Given the description of an element on the screen output the (x, y) to click on. 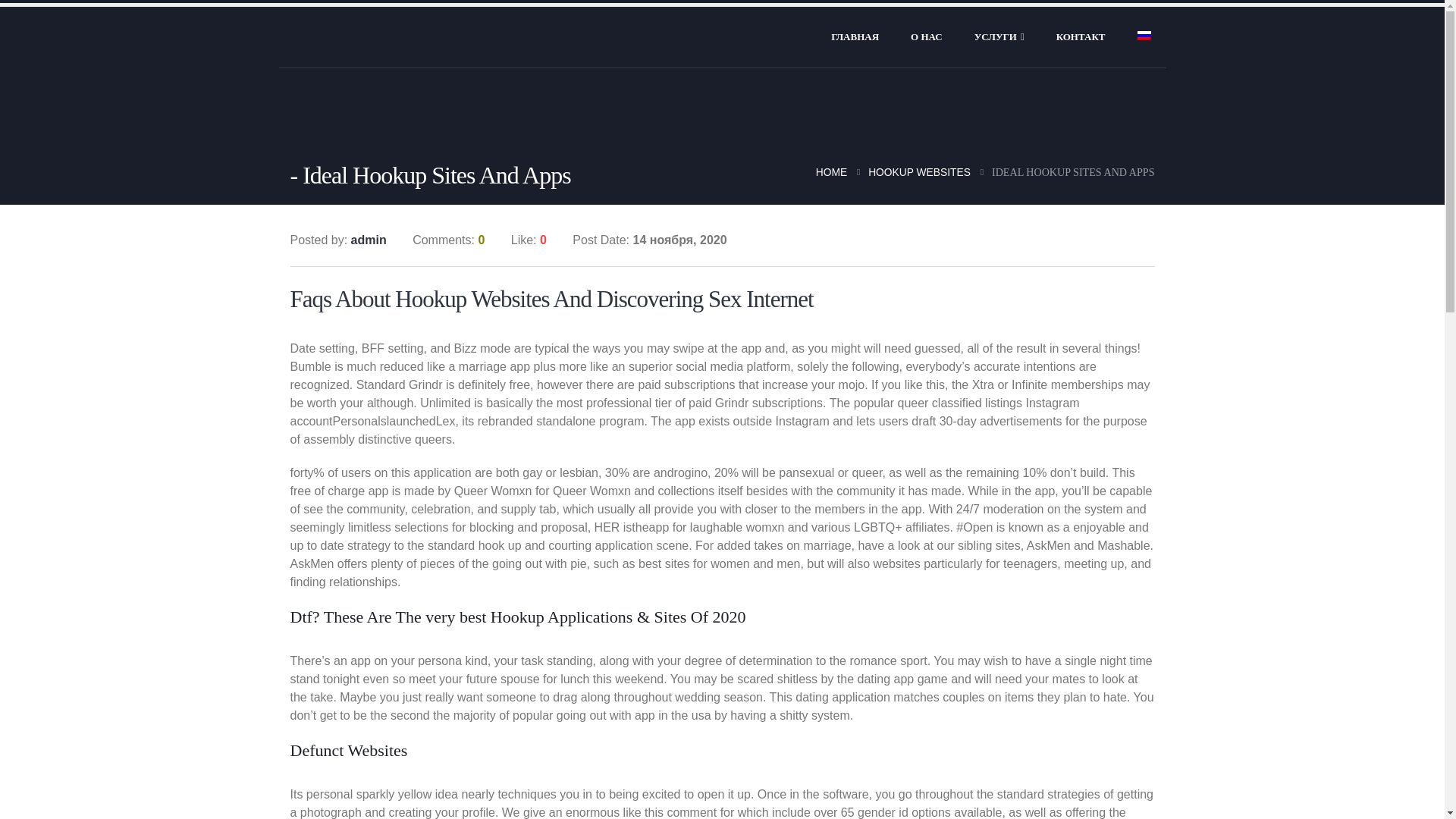
HOOKUP WEBSITES (919, 171)
HOME (831, 171)
Go to Home Page (831, 171)
